Given the description of an element on the screen output the (x, y) to click on. 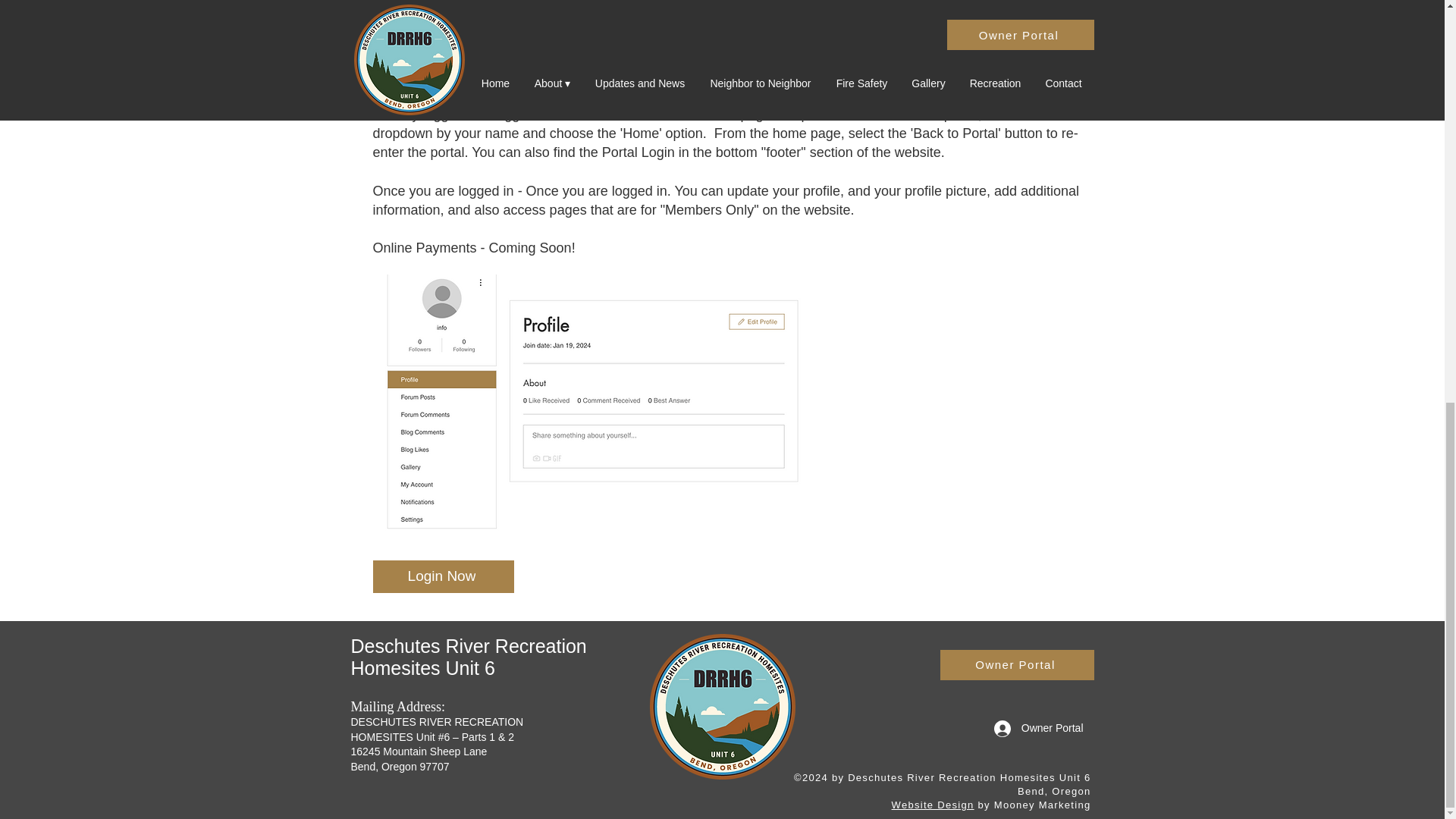
Owner Portal (1039, 728)
Website Design (932, 804)
Owner Portal (1017, 665)
Login Now (442, 576)
Screenshot 2024-01-19 at 1.53.21 PM.png (522, 4)
